Given the description of an element on the screen output the (x, y) to click on. 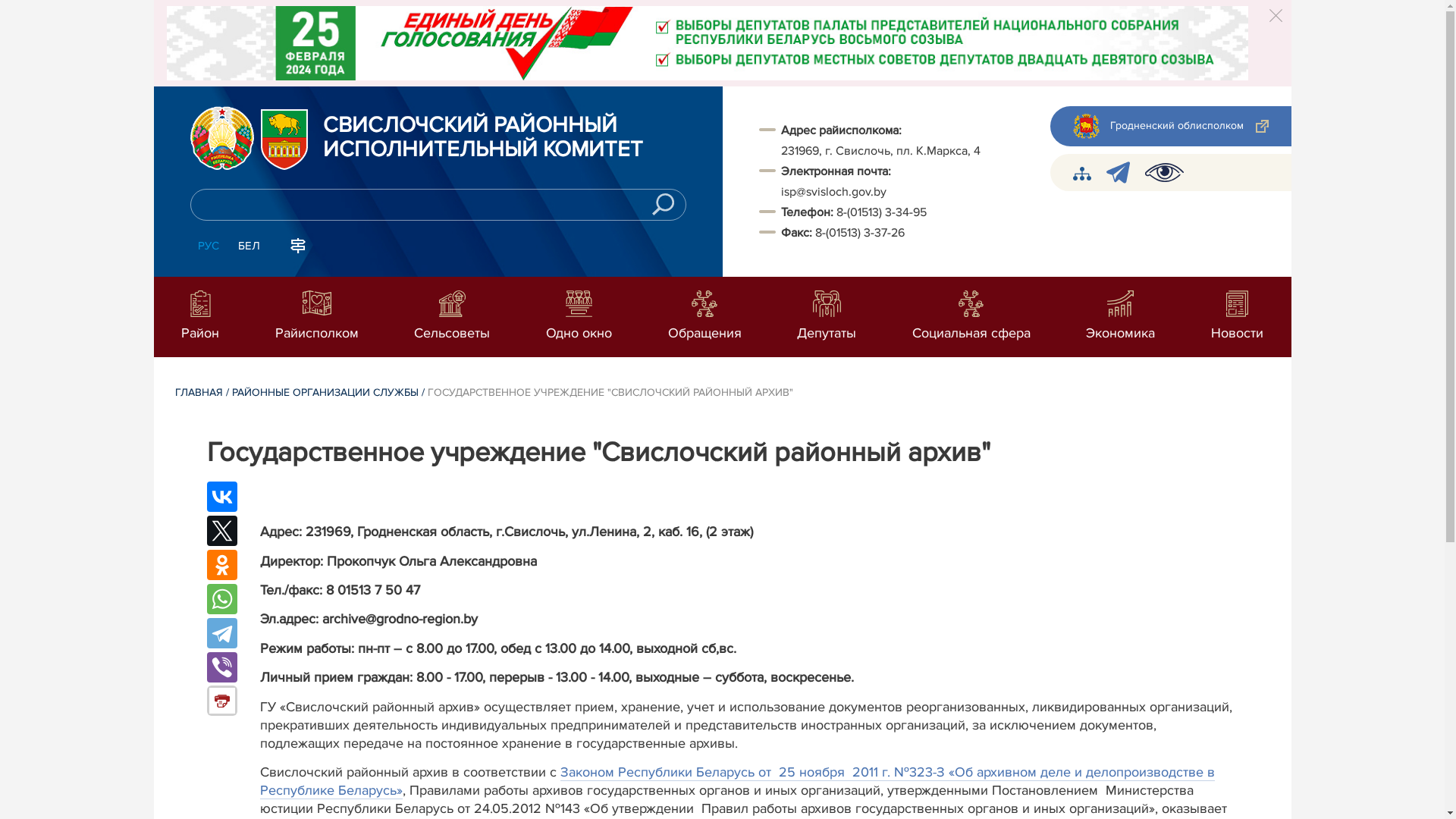
WhatsApp Element type: hover (221, 598)
telegram Element type: hover (1117, 172)
Twitter Element type: hover (221, 530)
Viber Element type: hover (221, 667)
Telegram Element type: hover (221, 633)
